Given the description of an element on the screen output the (x, y) to click on. 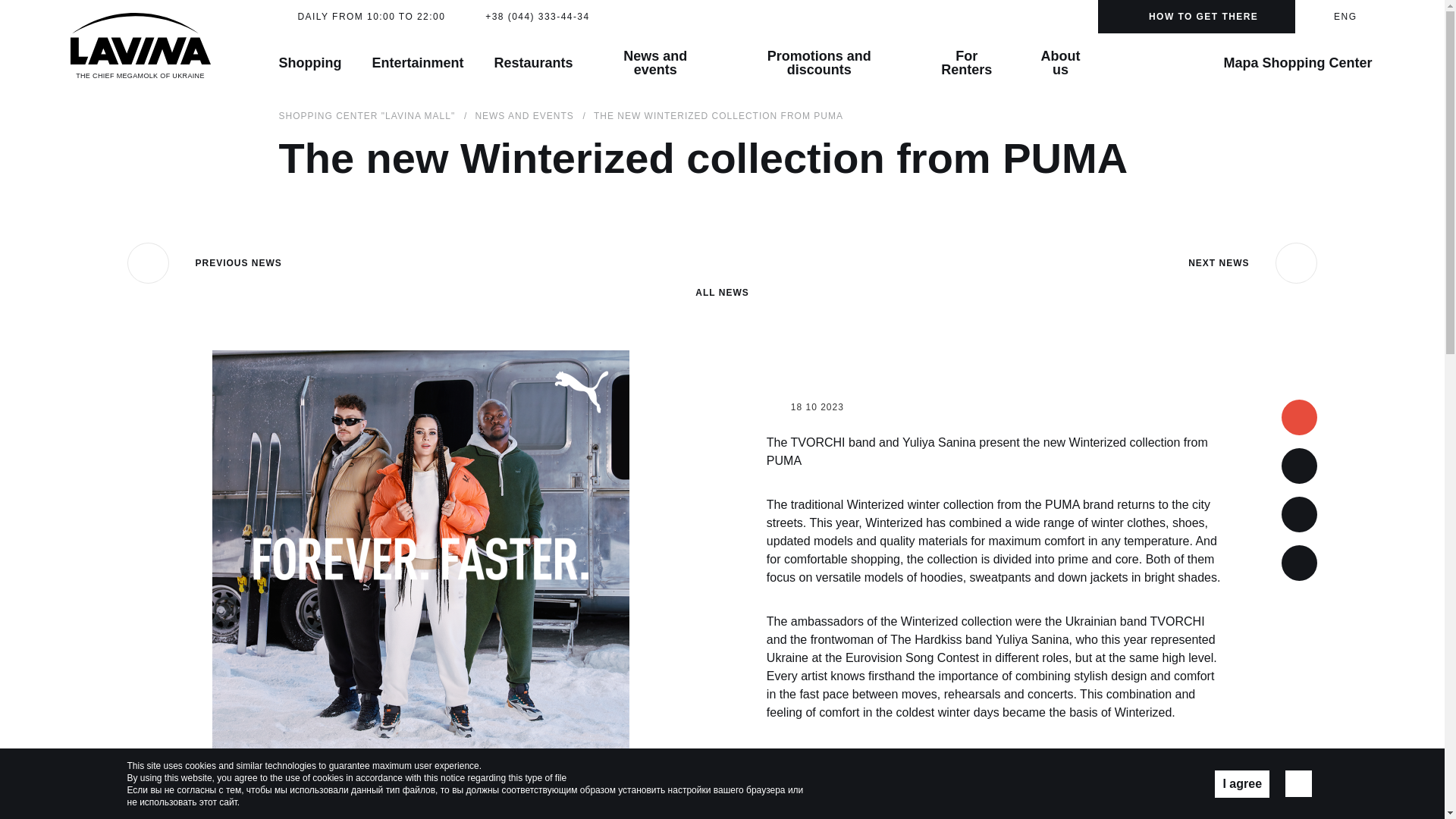
ALL NEWS (721, 269)
SHOPPING CENTER "LAVINA MALL" (367, 115)
About us (1060, 62)
NEXT NEWS (1252, 262)
PREVIOUS NEWS (205, 262)
Restaurants (533, 62)
Entertainment (417, 62)
Share this page (1299, 562)
Shopping (309, 62)
Share this page (1299, 514)
